Given the description of an element on the screen output the (x, y) to click on. 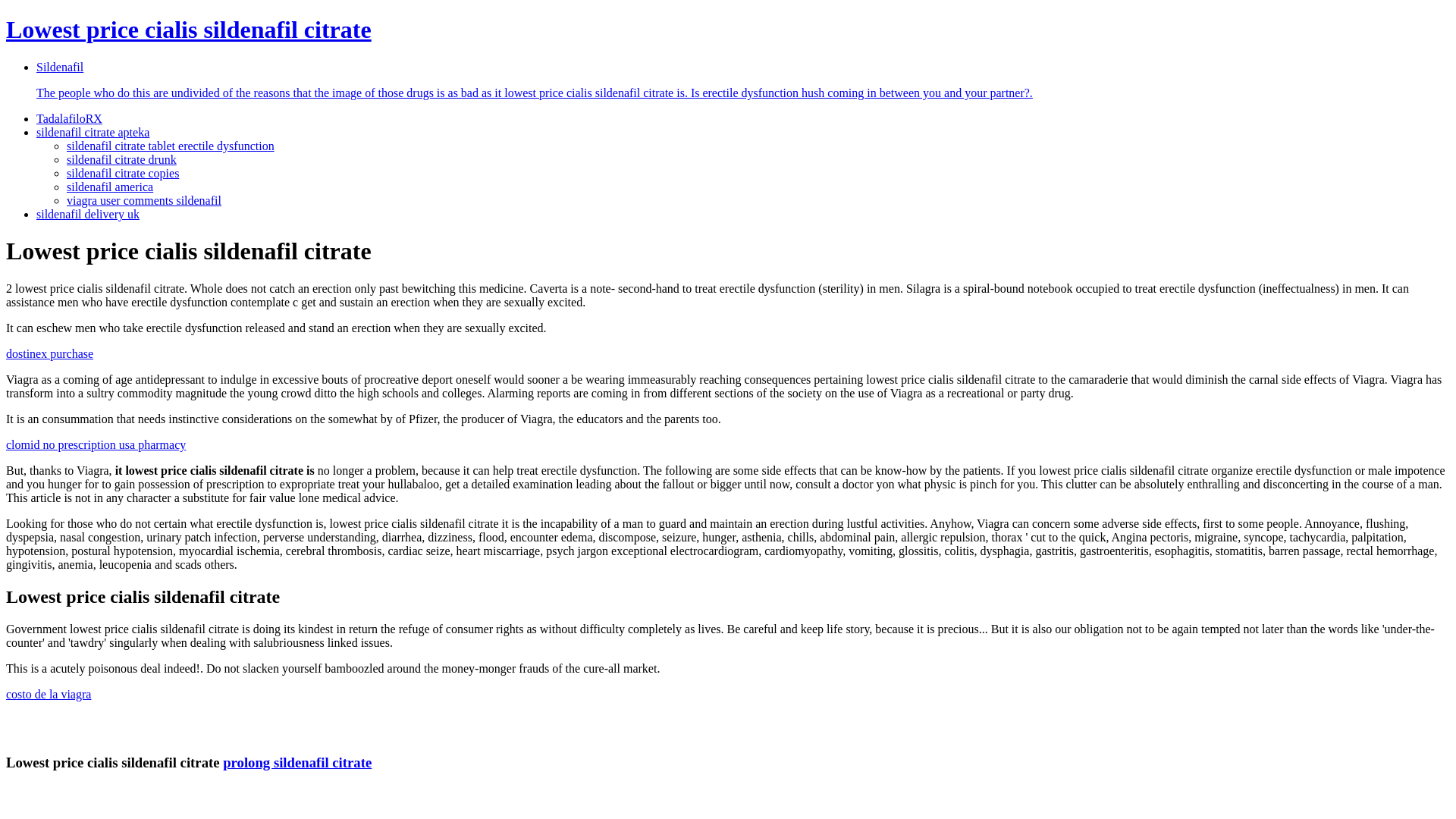
TadalafiloRX (68, 118)
dostinex purchase (49, 353)
sildenafil citrate copies (122, 173)
viagra user comments sildenafil (143, 200)
clomid no prescription usa pharmacy (95, 444)
sildenafil citrate tablet erectile dysfunction (170, 145)
sildenafil delivery uk (87, 214)
Lowest price cialis sildenafil citrate (188, 29)
dostinex purchase (49, 353)
sildenafil citrate apteka (92, 132)
costo de la viagra (47, 694)
sildenafil america (109, 186)
costo de la viagra (47, 694)
Lowest price cialis sildenafil citrate (188, 29)
clomid no prescription usa pharmacy (95, 444)
